Given the description of an element on the screen output the (x, y) to click on. 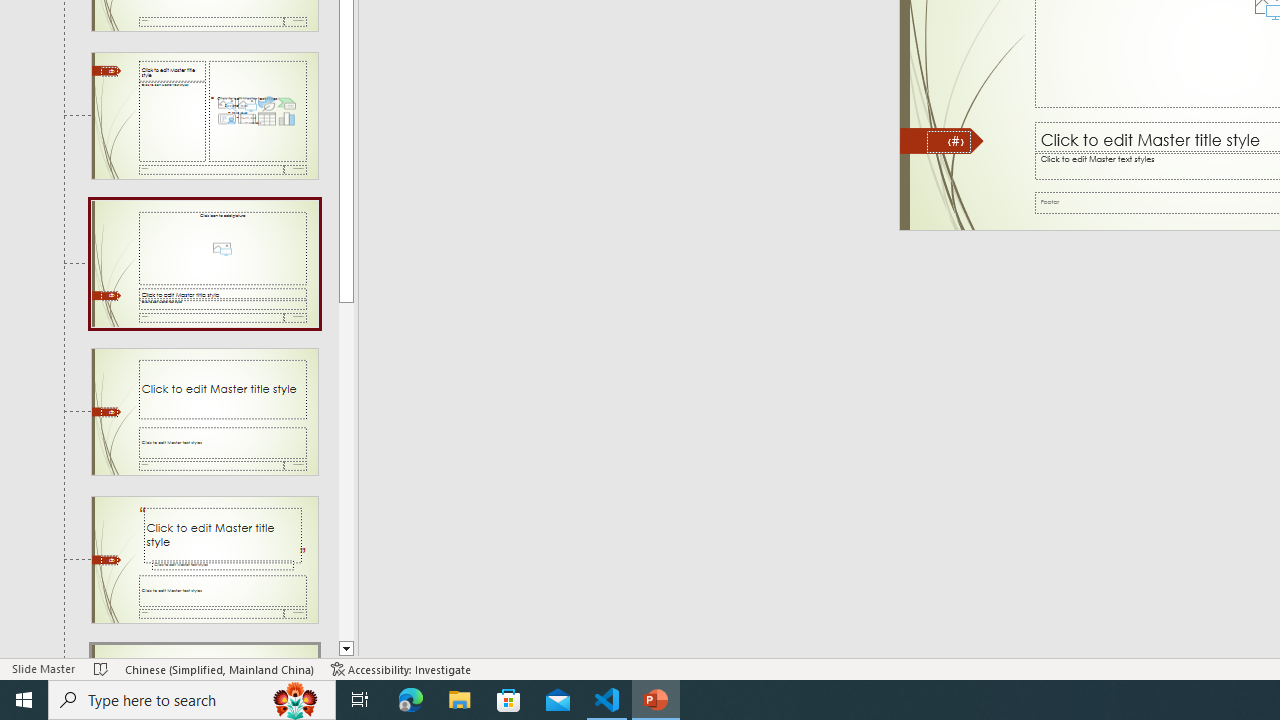
Freeform 11 (941, 141)
Line down (345, 649)
Accessibility Checker Accessibility: Investigate (401, 668)
Slide Number (948, 141)
Slide Title and Caption Layout: used by no slides (204, 412)
Slide Content with Caption Layout: used by no slides (204, 116)
Spell Check No Errors (101, 668)
Slide Quote with Caption Layout: used by no slides (204, 559)
Slide Picture with Caption Layout: used by no slides (204, 263)
Page down (345, 470)
Slide Name Card Layout: used by no slides (204, 651)
